Given the description of an element on the screen output the (x, y) to click on. 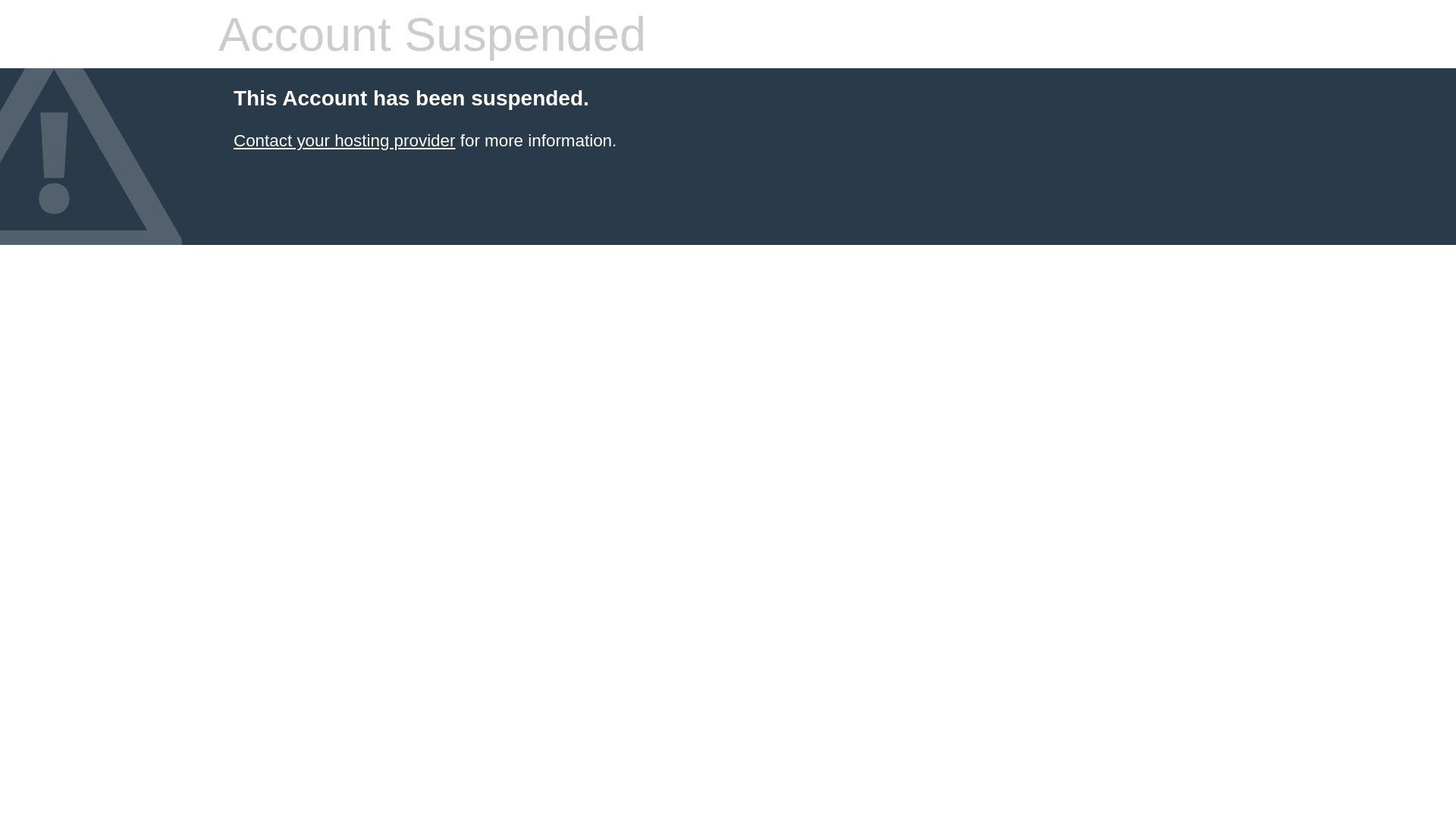
Contact your hosting provider Element type: text (344, 140)
